Given the description of an element on the screen output the (x, y) to click on. 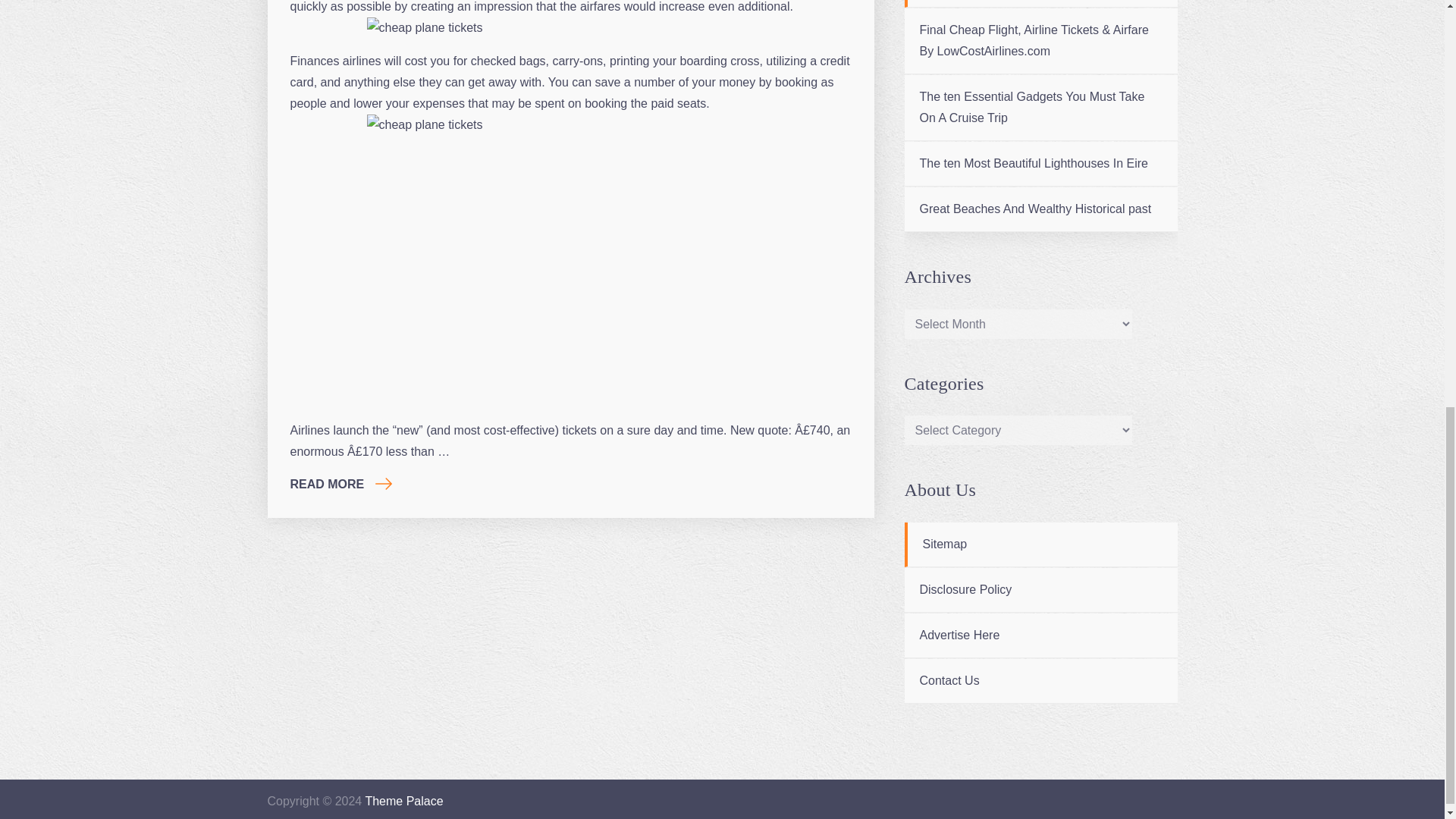
READ MORE (340, 483)
